Given the description of an element on the screen output the (x, y) to click on. 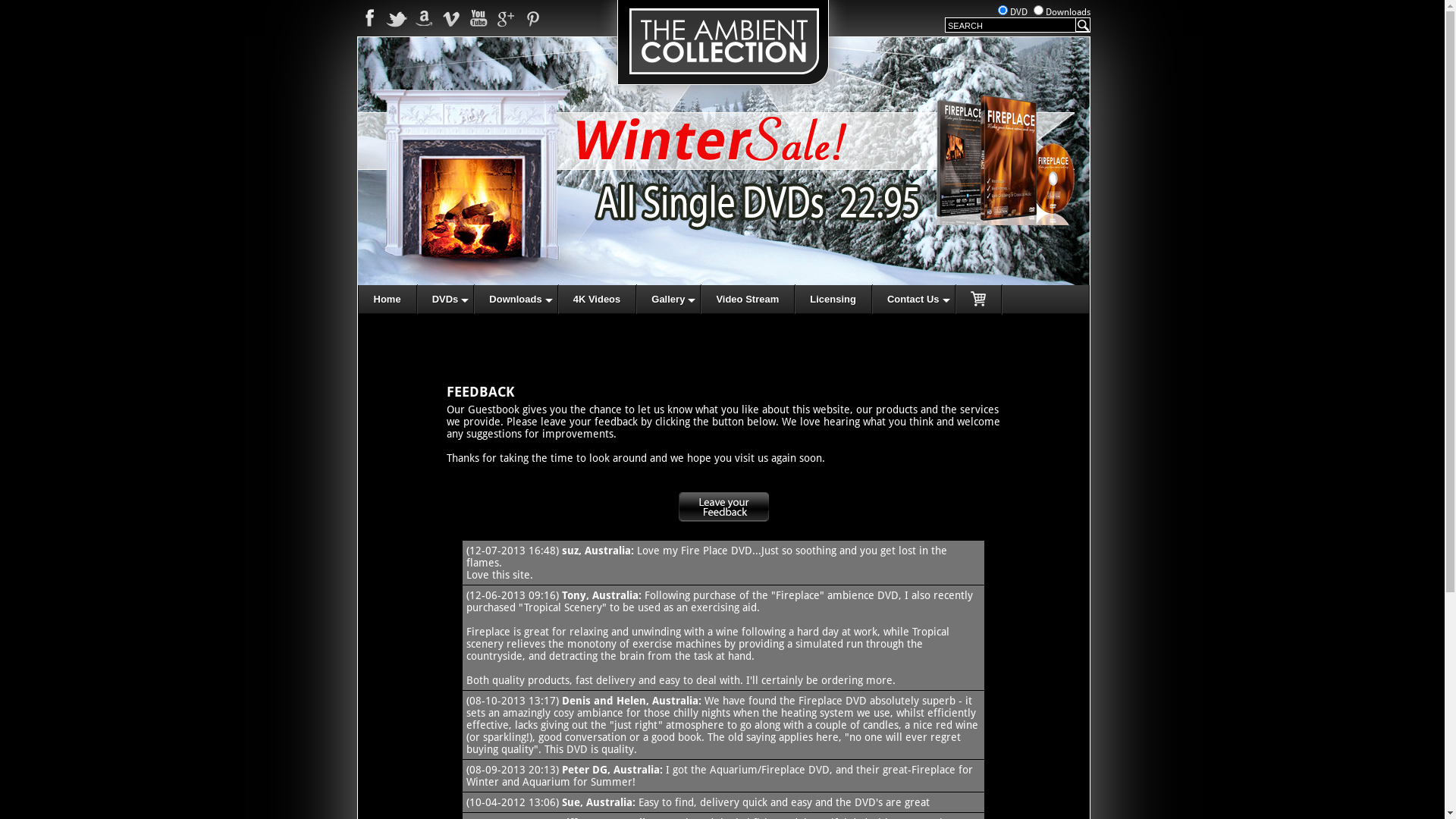
DVDs Element type: text (445, 299)
Video Stream Element type: text (747, 299)
Home Element type: text (386, 299)
Contact Us Element type: text (913, 299)
Gallery Element type: text (668, 299)
4K Videos Element type: text (597, 299)
Home Element type: hover (722, 100)
Licensing Element type: text (833, 299)
Downloads Element type: text (515, 299)
